Given the description of an element on the screen output the (x, y) to click on. 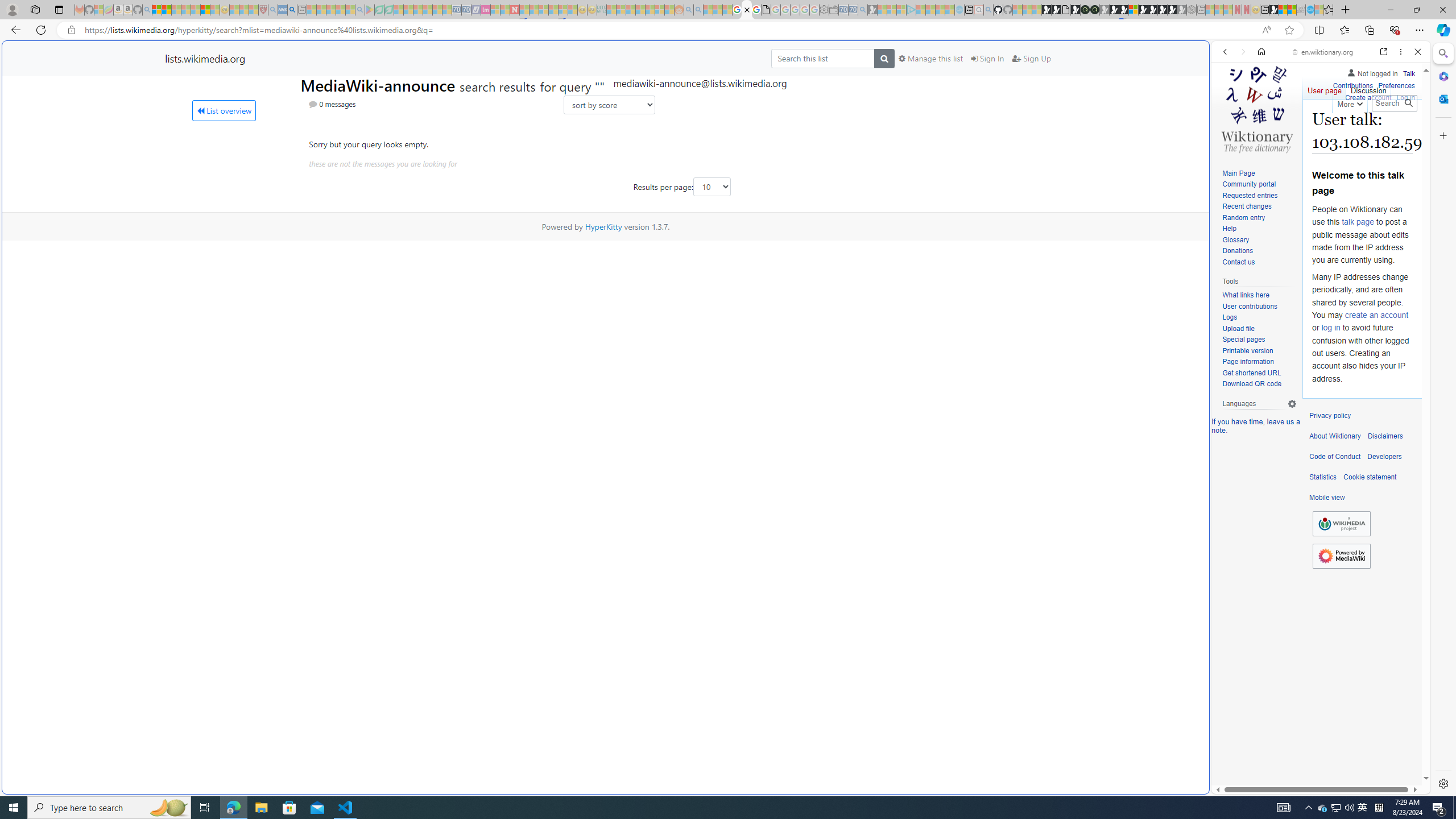
Cookie statement (1369, 477)
User contributions (1248, 306)
Contact us (1238, 261)
Search Filter, VIDEOS (1300, 129)
Contributions (1352, 84)
AutomationID: footer-poweredbyico (1341, 555)
Contributions (1352, 85)
Class: b_serphb (1404, 130)
